Given the description of an element on the screen output the (x, y) to click on. 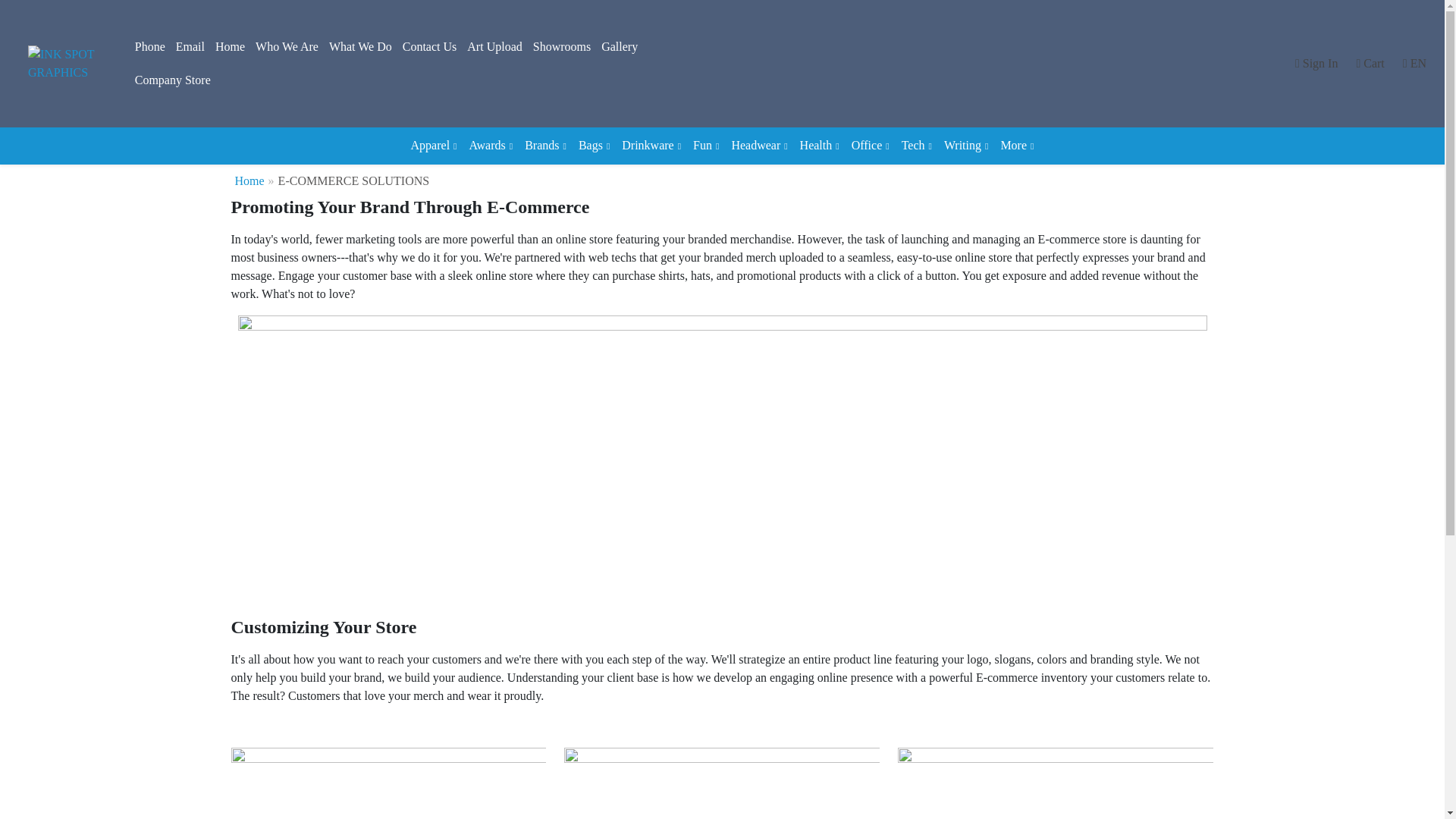
Email (189, 46)
Showrooms (561, 46)
Home (229, 46)
What We Do (360, 46)
Sign In (1316, 63)
Contact Us (430, 46)
Gallery (619, 46)
Who We Are (286, 46)
Phone (149, 46)
Cart (1370, 63)
Art Upload (494, 46)
EN (1414, 63)
